Given the description of an element on the screen output the (x, y) to click on. 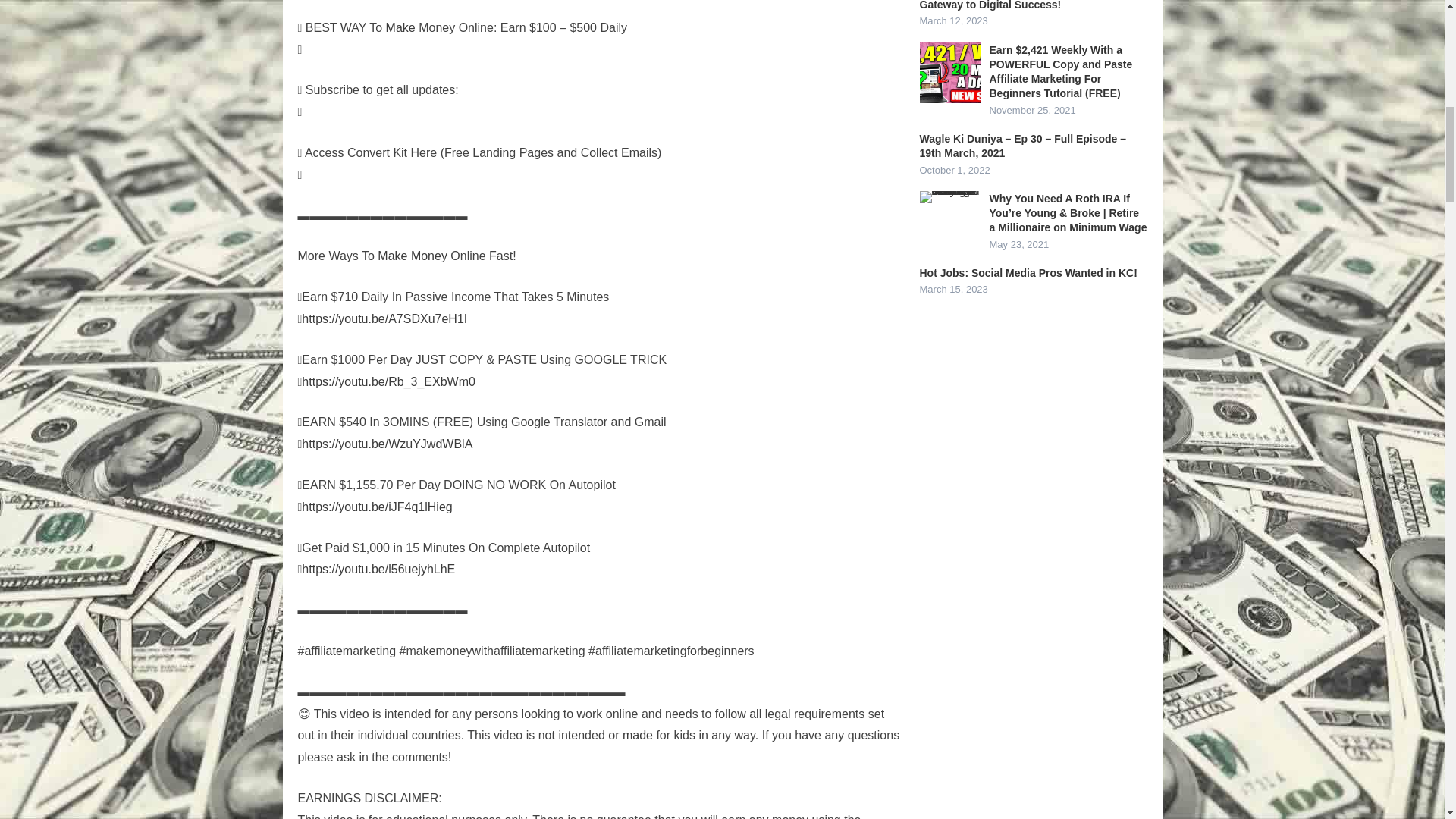
Make Money (411, 255)
Make (399, 27)
made (637, 735)
Make Money (411, 255)
made (637, 735)
Make (399, 27)
